Given the description of an element on the screen output the (x, y) to click on. 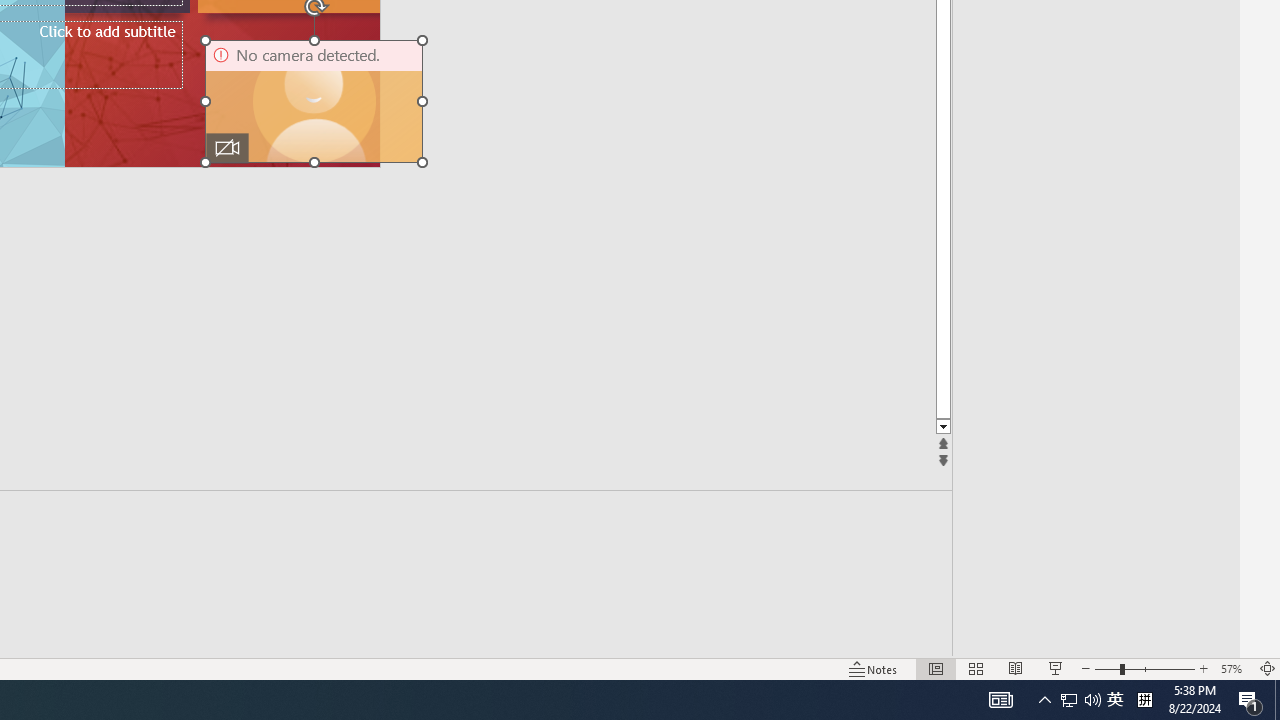
Zoom 57% (1234, 668)
Camera 14, No camera detected. (313, 101)
Camera 11, No camera detected. (313, 101)
